Given the description of an element on the screen output the (x, y) to click on. 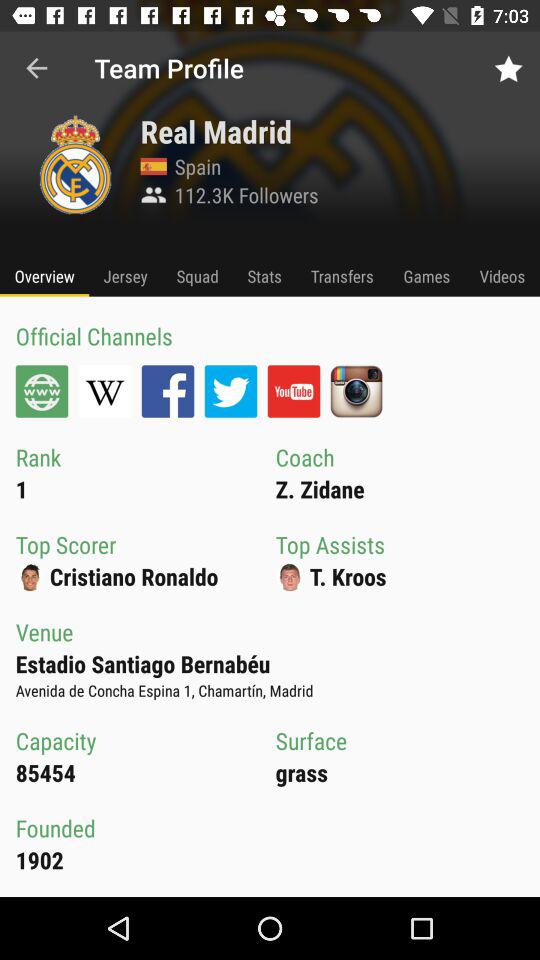
press item next to the games icon (502, 276)
